Given the description of an element on the screen output the (x, y) to click on. 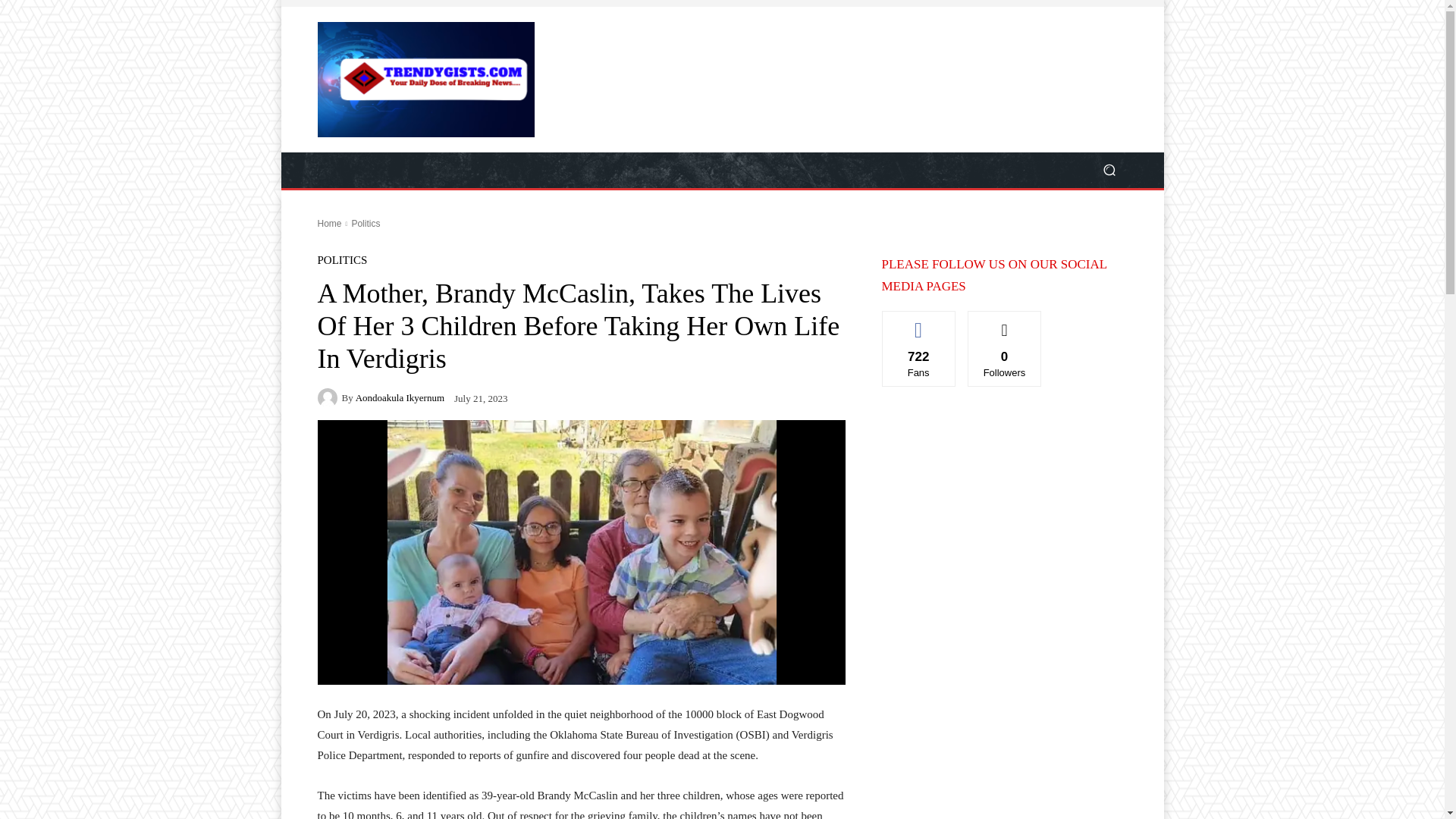
Aondoakula Ikyernum (328, 397)
Home (328, 223)
Politics (365, 223)
Aondoakula Ikyernum (399, 397)
POLITICS (341, 260)
View all posts in Politics (365, 223)
